Given the description of an element on the screen output the (x, y) to click on. 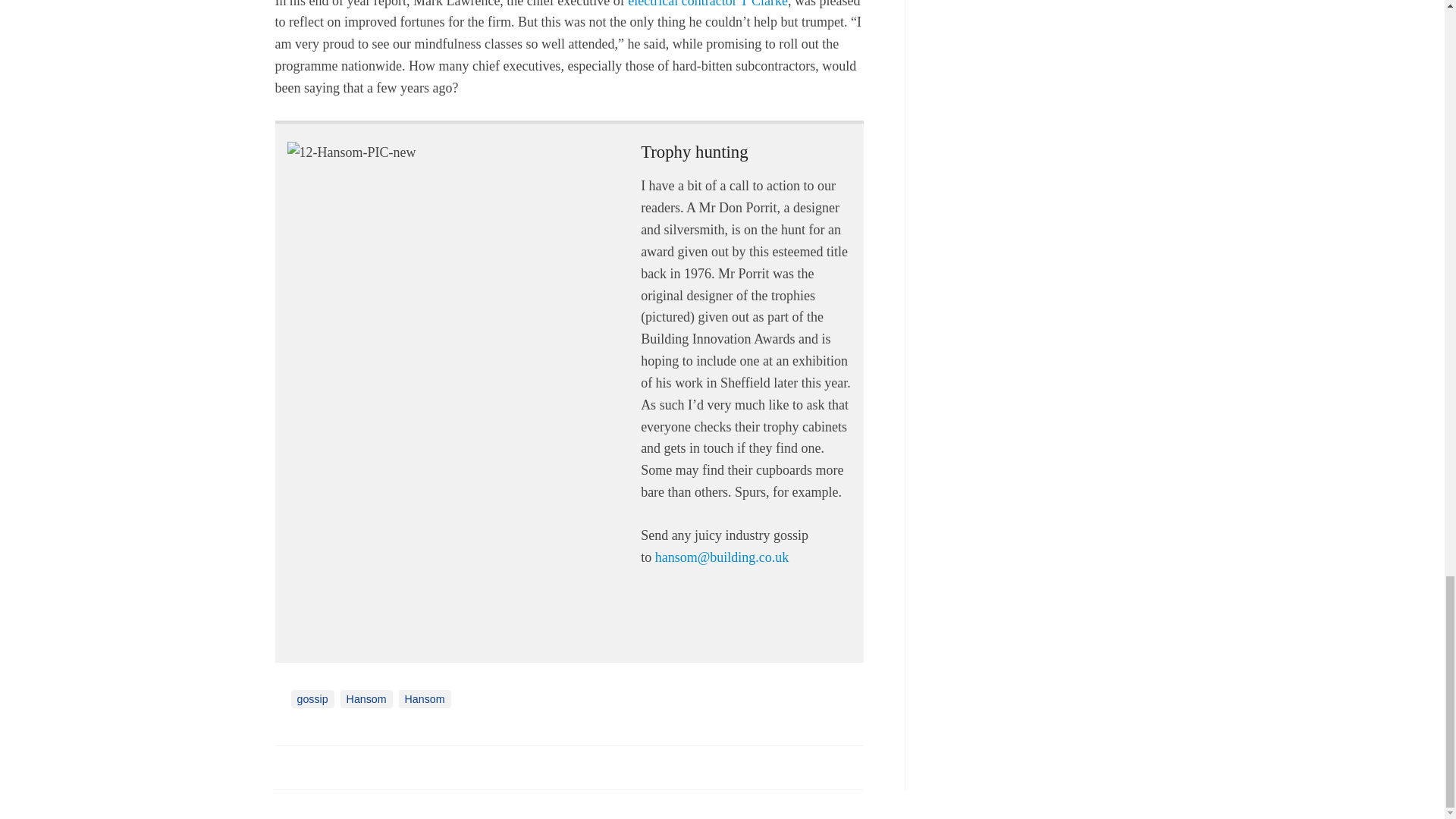
No comments (840, 776)
Email this article (386, 767)
Share this on Facebook (288, 767)
Share this on Twitter (320, 767)
Share this on Linked in (352, 767)
